Given the description of an element on the screen output the (x, y) to click on. 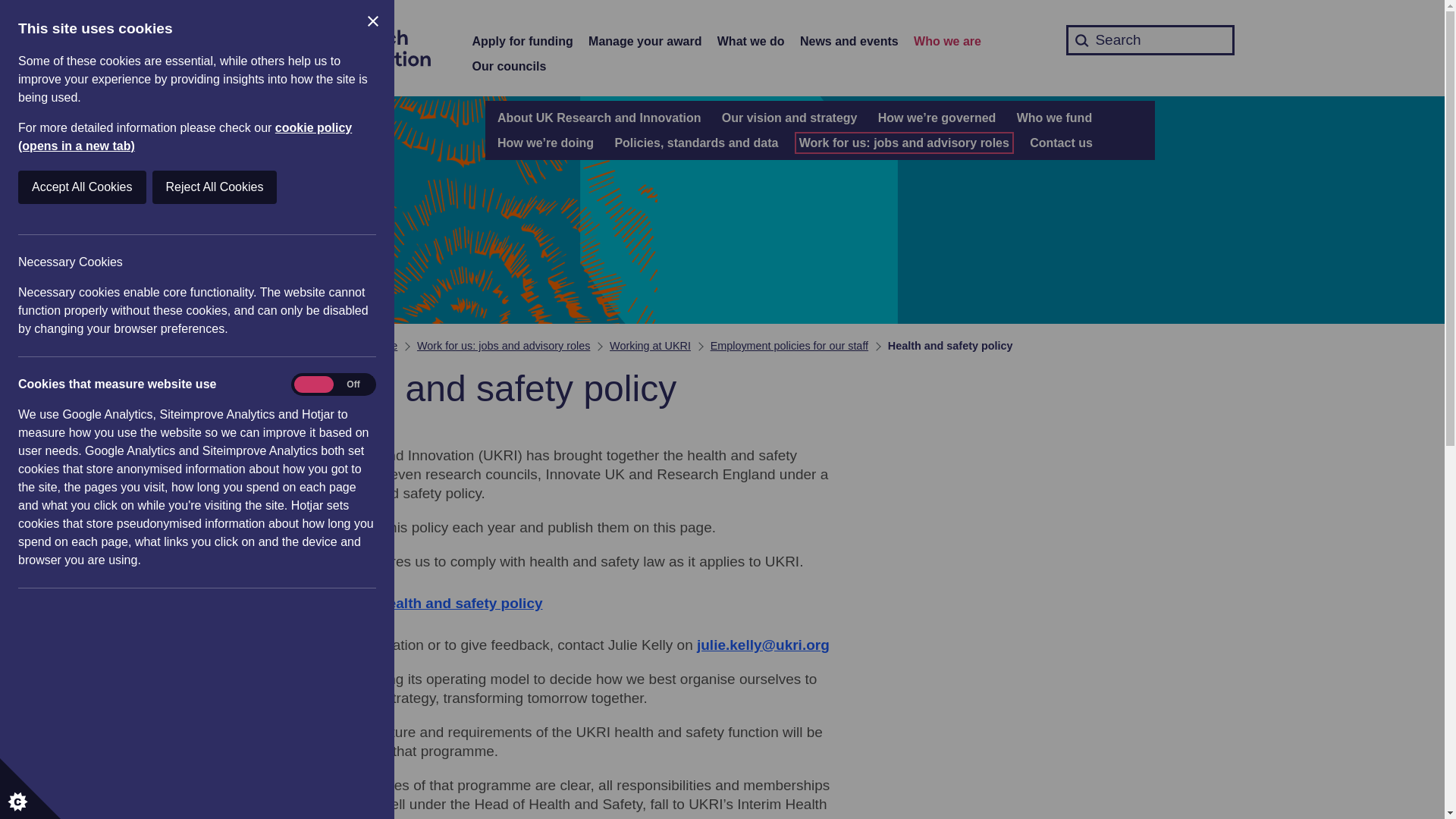
Manage your award (644, 41)
Apply for funding (521, 41)
News and events (848, 41)
Who we are (947, 41)
Skip to main content (11, 7)
Our councils (508, 66)
on (333, 384)
Reject All Cookies (98, 186)
What we do (750, 41)
